Given the description of an element on the screen output the (x, y) to click on. 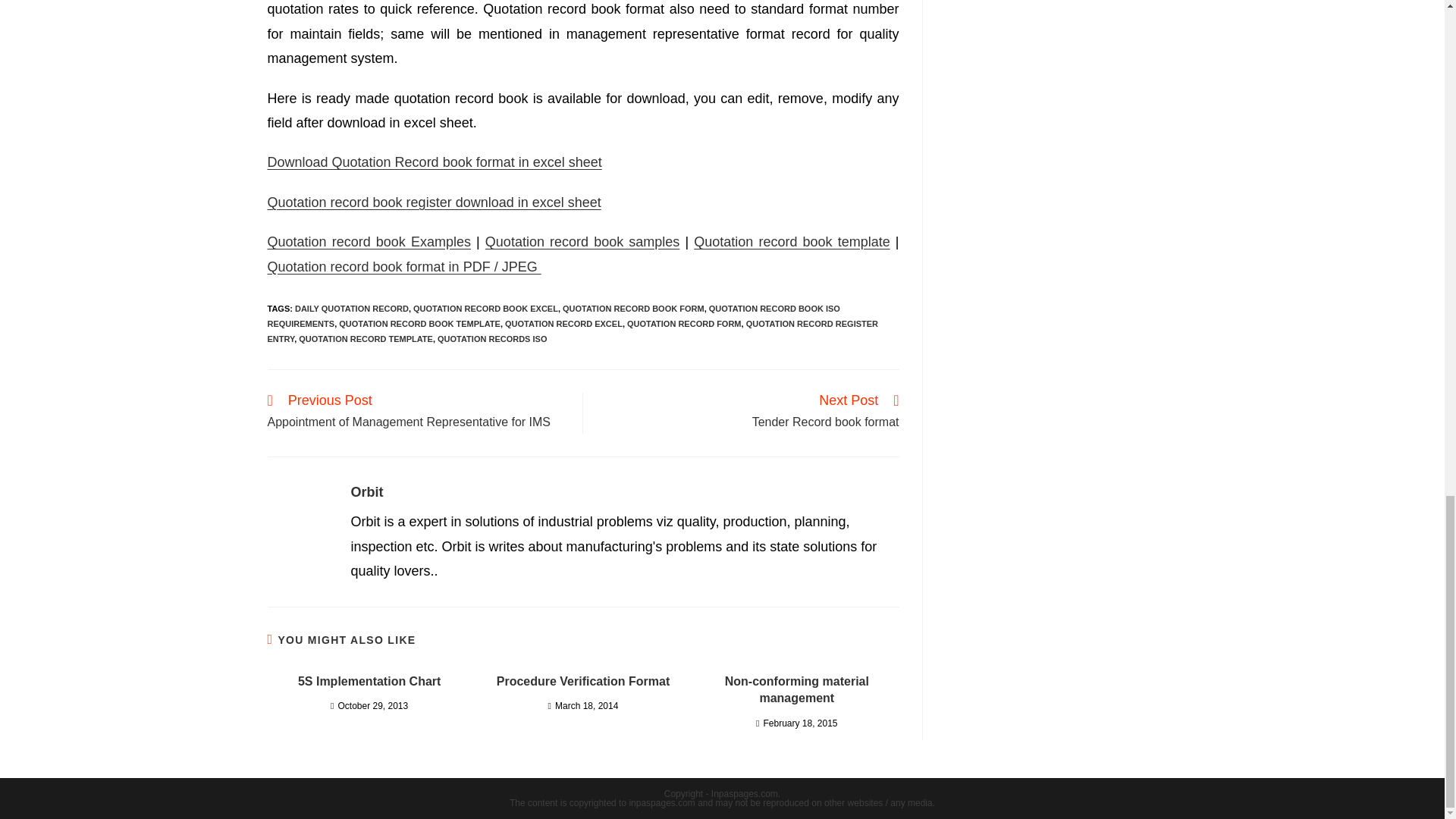
Quotation record book template (791, 241)
Quotation record book register download in excel sheet (432, 201)
Quotation record book samples (581, 241)
Download Quotation Record book format in excel sheet (433, 161)
Quotation record book Examples (368, 241)
